Given the description of an element on the screen output the (x, y) to click on. 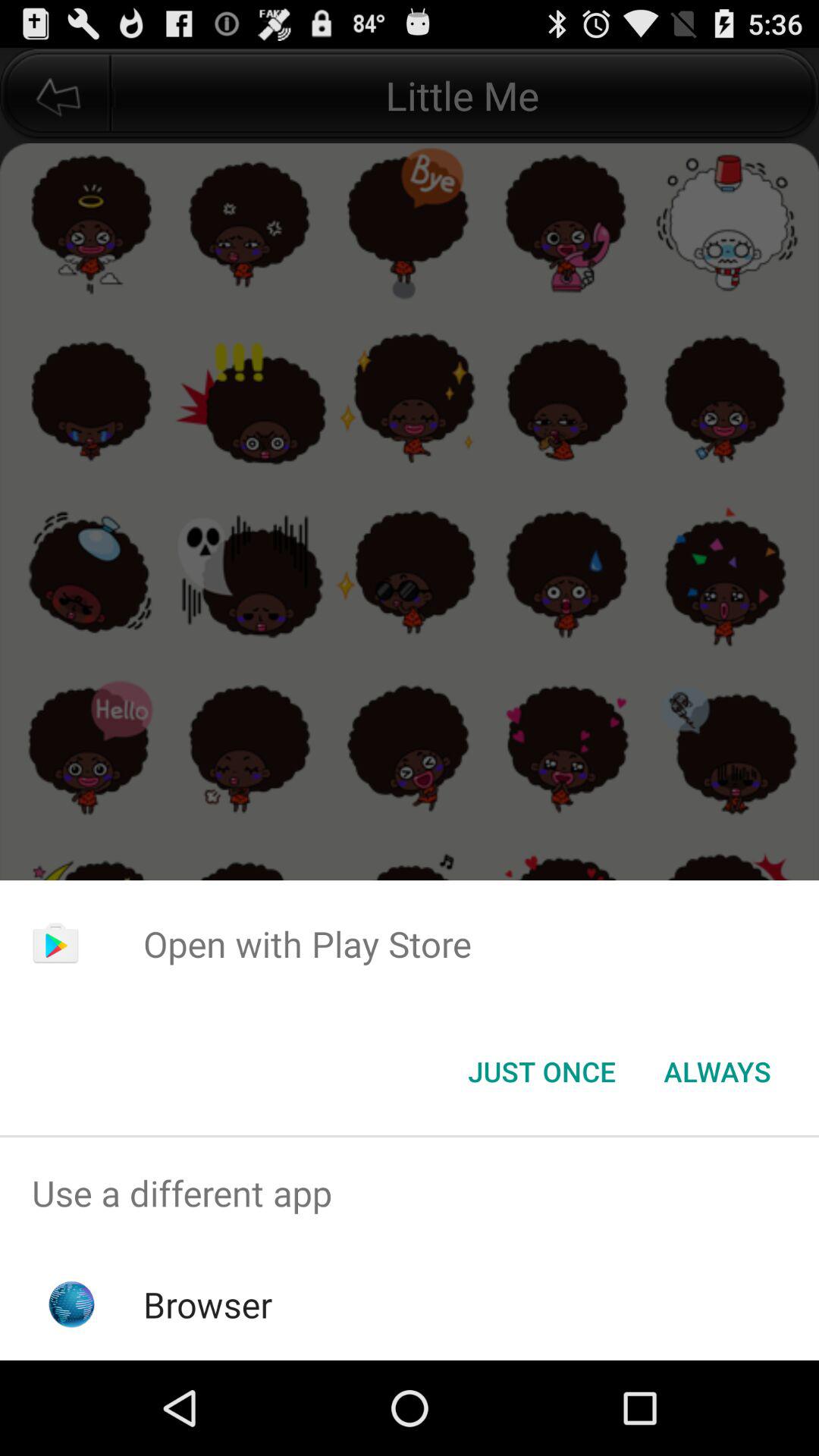
jump to just once item (541, 1071)
